Given the description of an element on the screen output the (x, y) to click on. 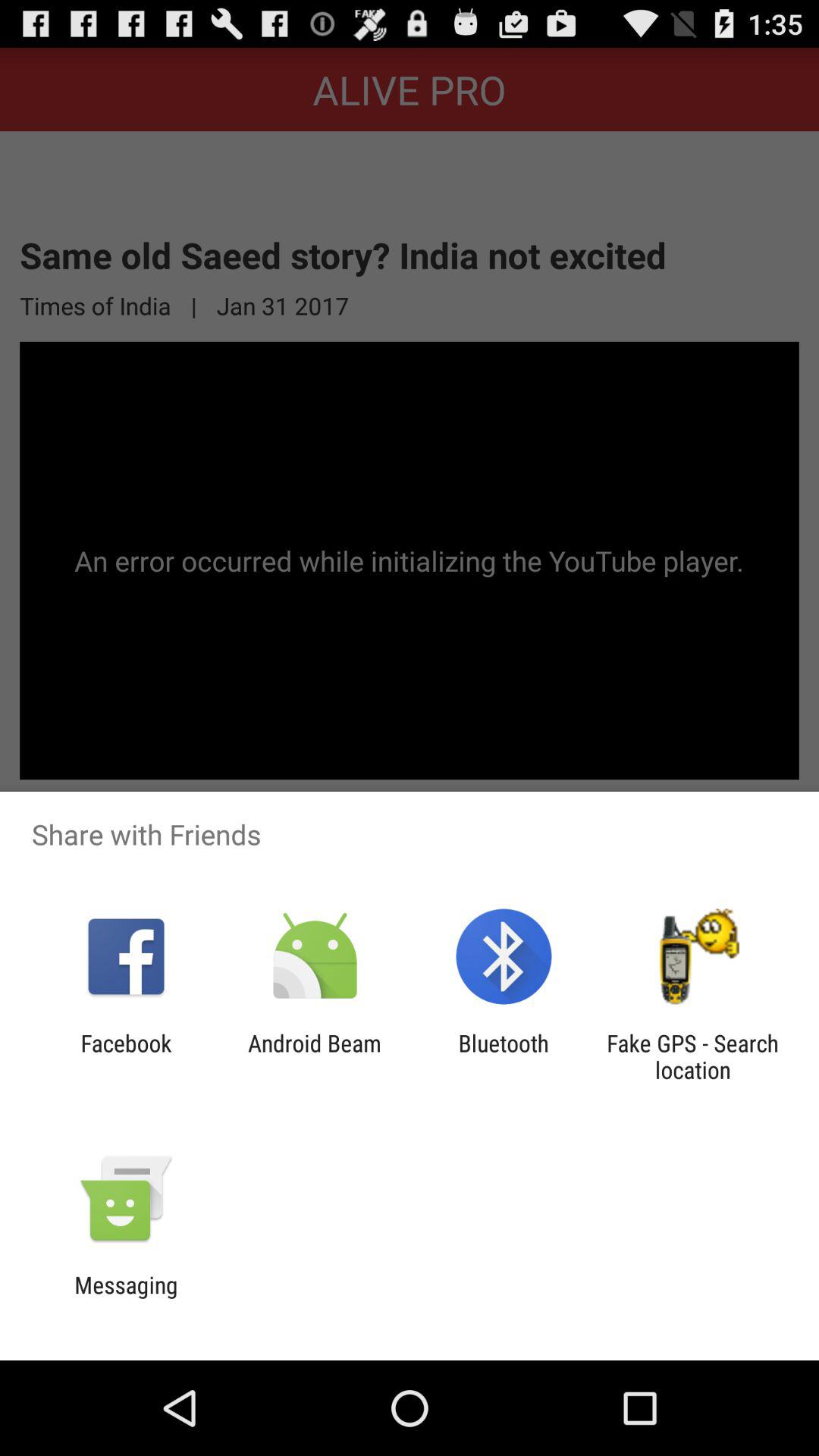
choose the app to the left of bluetooth item (314, 1056)
